Given the description of an element on the screen output the (x, y) to click on. 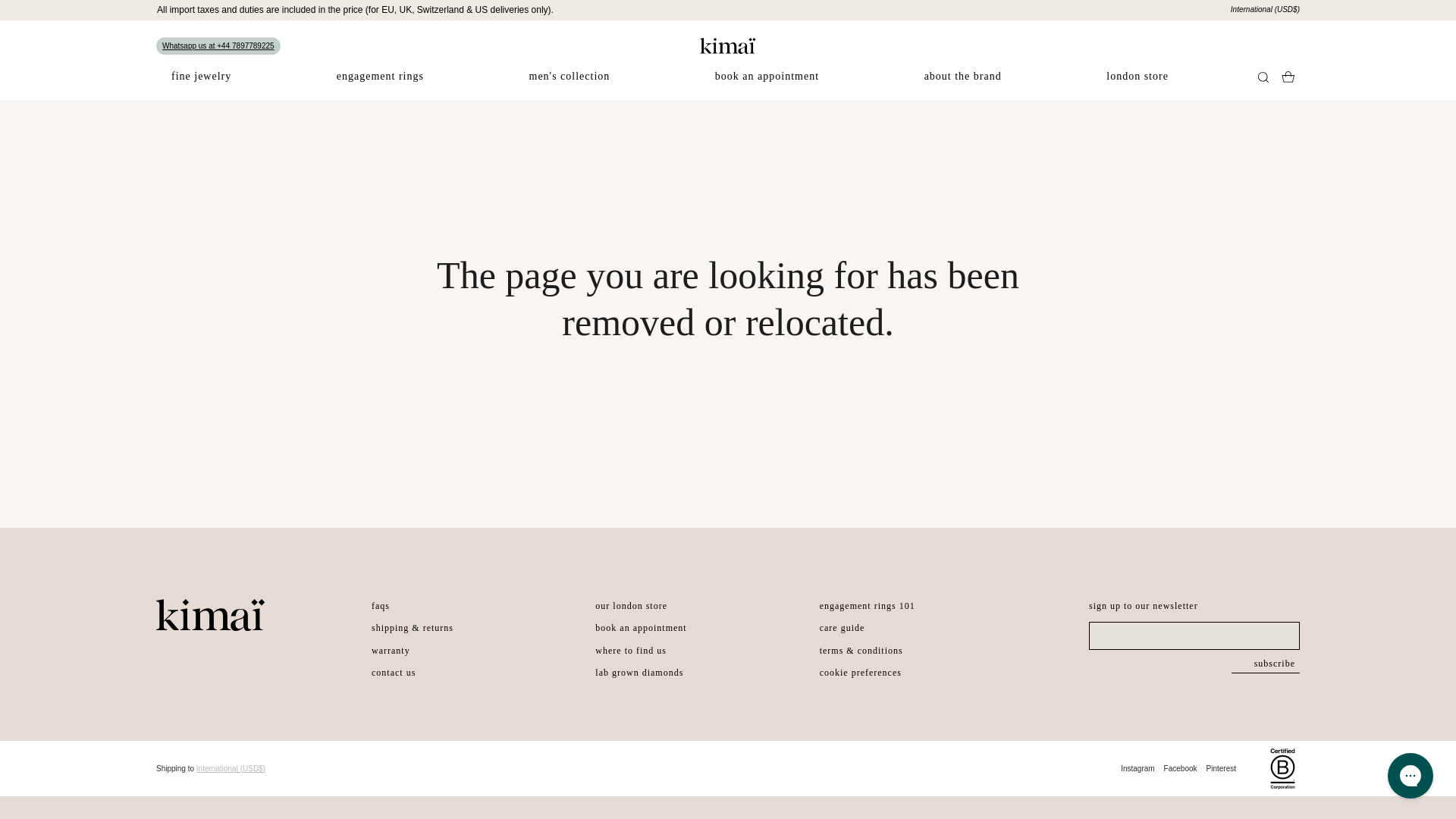
london store (1136, 84)
book an appointment (767, 84)
men's collection (569, 84)
about the brand (962, 84)
fine jewelry (200, 84)
engagement rings (380, 84)
Gorgias live chat messenger (1410, 775)
